Given the description of an element on the screen output the (x, y) to click on. 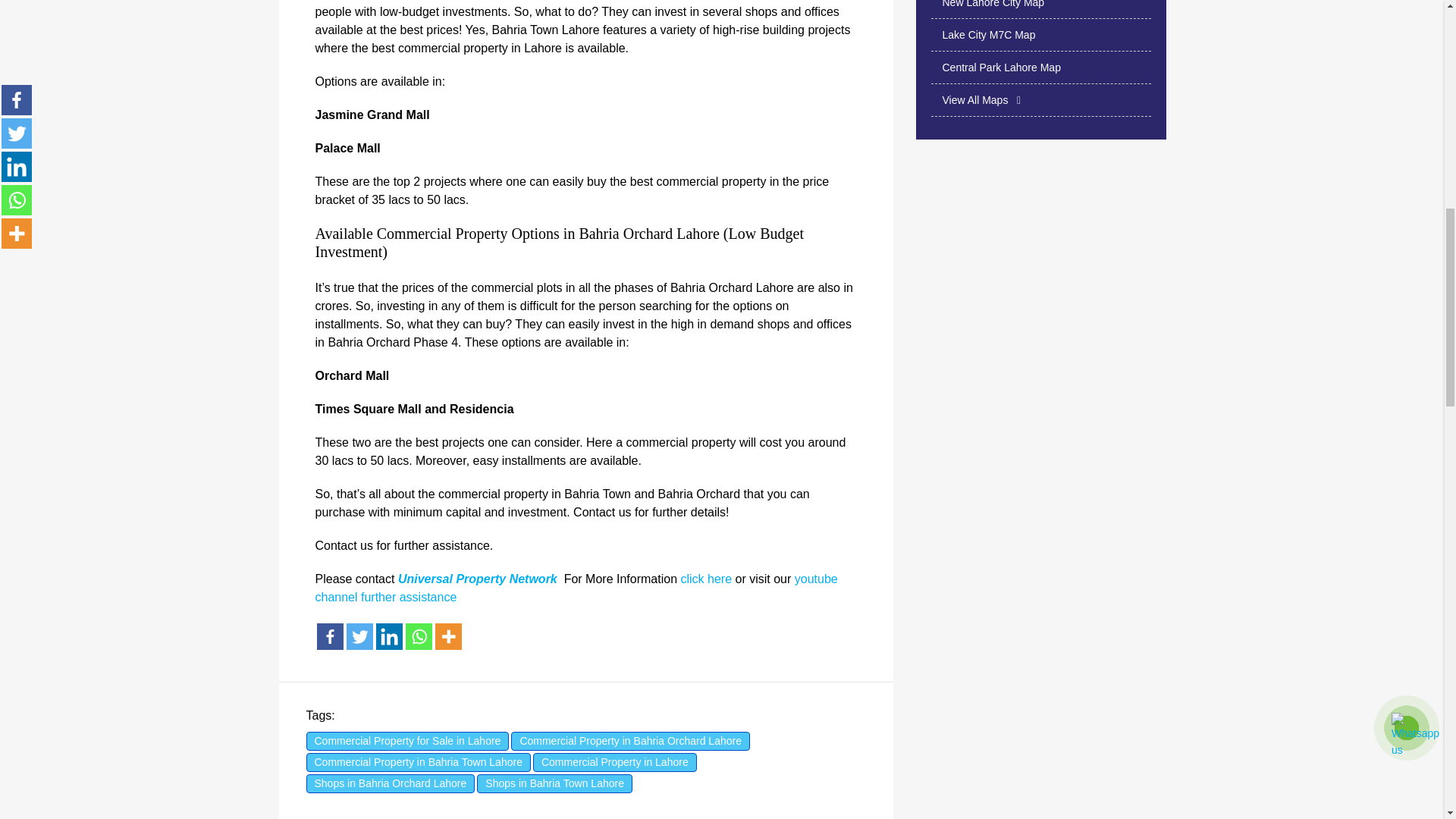
Twitter (359, 636)
Whatsapp (417, 636)
Facebook (330, 636)
Linkedin (389, 636)
More (448, 636)
